Given the description of an element on the screen output the (x, y) to click on. 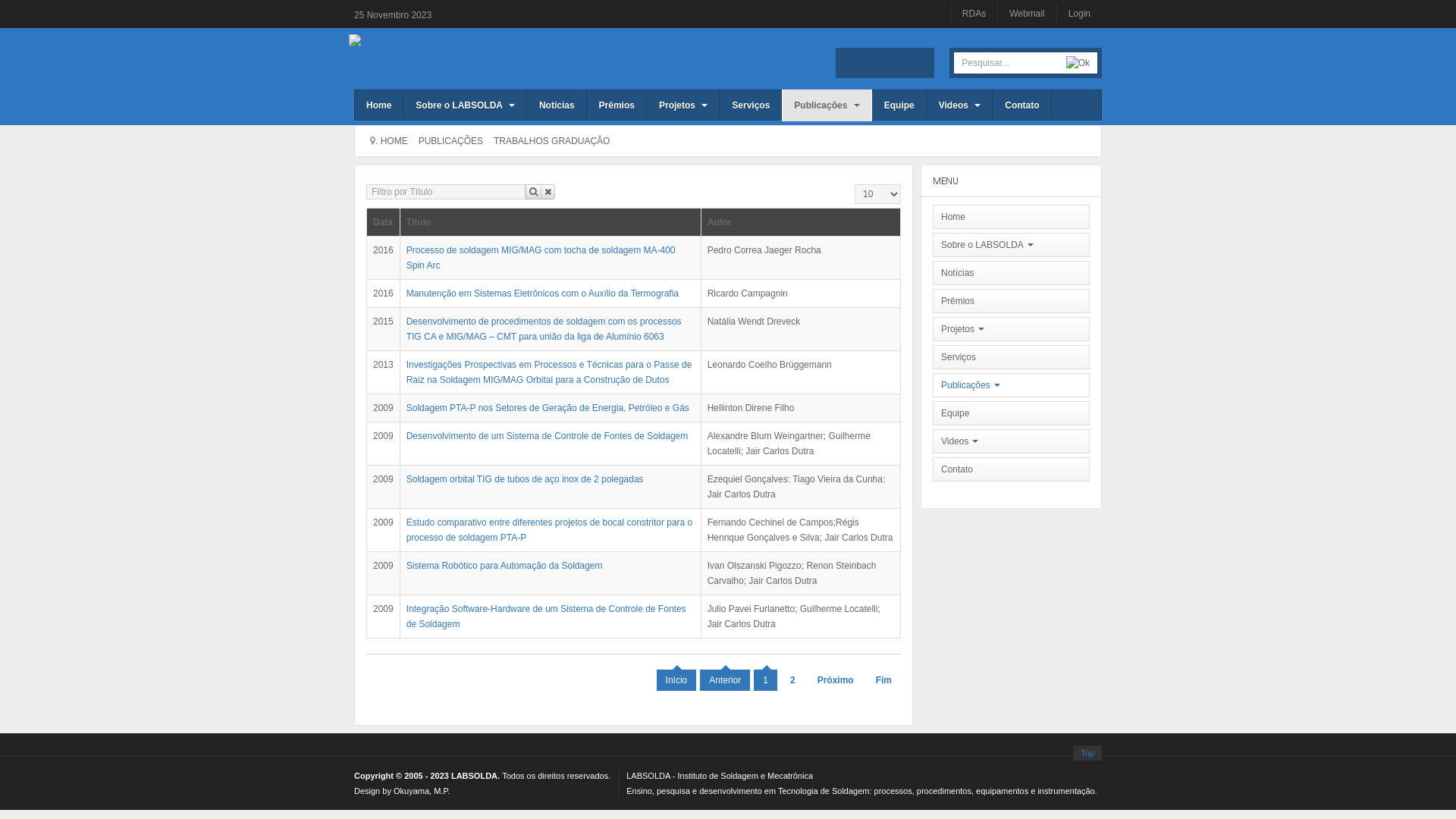
Login Element type: text (1079, 13)
Autor Element type: text (719, 221)
Youtube Element type: text (918, 62)
Videos Element type: text (1010, 441)
Pesquisa Element type: hover (533, 191)
Sobre o LABSOLDA Element type: text (465, 105)
Equipe Element type: text (899, 105)
Sobre o LABSOLDA Element type: text (1010, 244)
Equipe Element type: text (1010, 413)
Fim Element type: text (883, 679)
Data Element type: text (382, 221)
Projetos Element type: text (682, 105)
Instagran Element type: text (873, 62)
Anterior Element type: text (724, 679)
Limpar Element type: hover (547, 191)
Home Element type: text (1010, 216)
Contato Element type: text (1010, 469)
Webmail Element type: text (1026, 13)
Videos Element type: text (959, 105)
1 Element type: text (765, 679)
Home Element type: text (378, 105)
Facebook Element type: text (850, 62)
LinkedIn Element type: text (895, 62)
2 Element type: text (792, 679)
LABSOLDA Element type: hover (378, 39)
Okuyama, M.P. Element type: text (421, 790)
Projetos Element type: text (1010, 328)
RDAs Element type: text (973, 13)
. HOME Element type: text (391, 140)
Contato Element type: text (1021, 105)
